Given the description of an element on the screen output the (x, y) to click on. 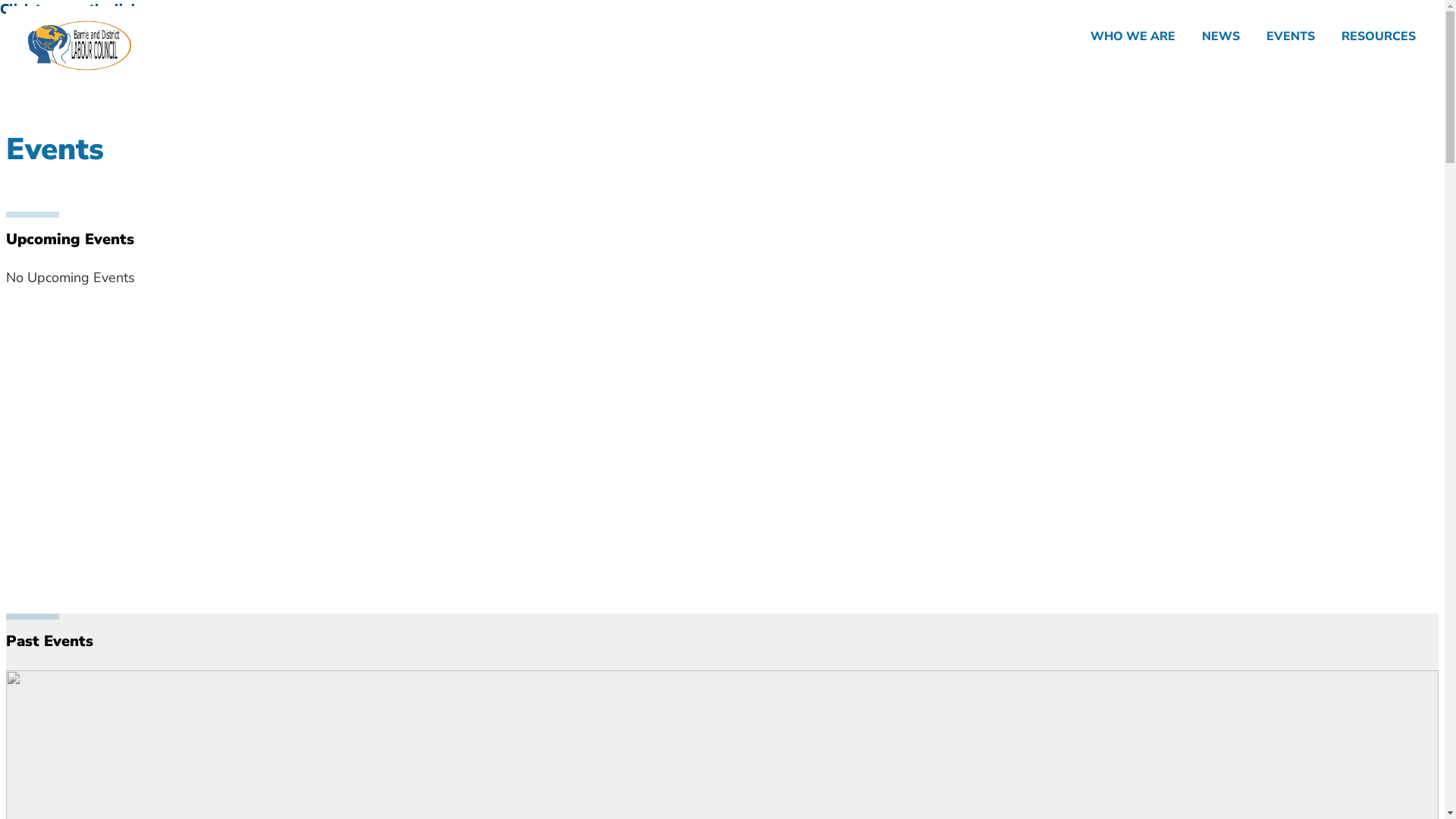
EVENTS Element type: text (1290, 36)
NEWS Element type: text (1220, 36)
RESOURCES Element type: text (1378, 36)
WHO WE ARE Element type: text (1132, 36)
